Given the description of an element on the screen output the (x, y) to click on. 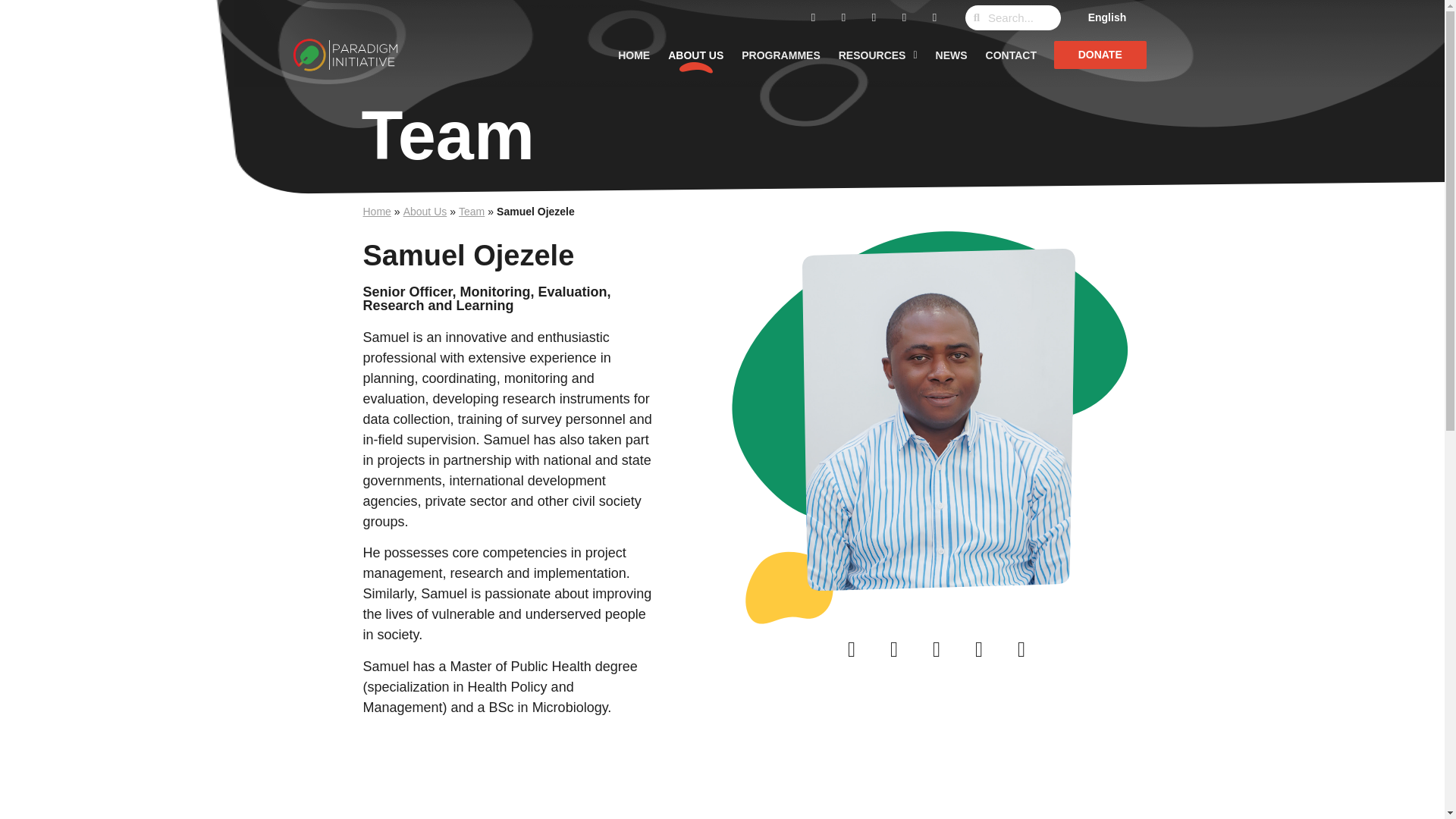
CONTACT (1010, 54)
About Us (424, 211)
English (1107, 17)
NEWS (951, 54)
English (1107, 17)
Team (471, 211)
DONATE (1100, 54)
RESOURCES (877, 54)
HOME (633, 54)
PROGRAMMES (780, 54)
